Given the description of an element on the screen output the (x, y) to click on. 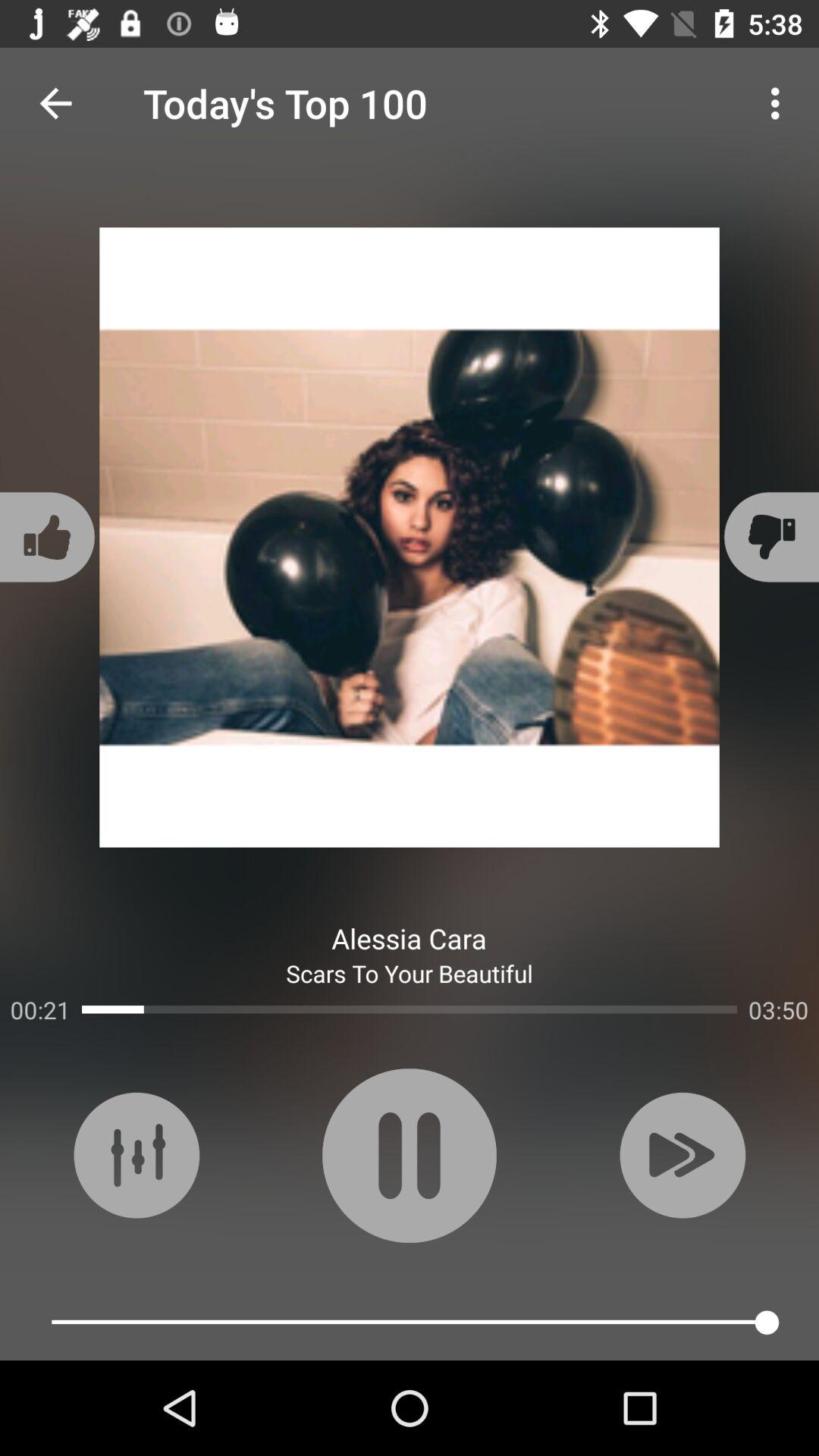
launch the item on the right (769, 536)
